Given the description of an element on the screen output the (x, y) to click on. 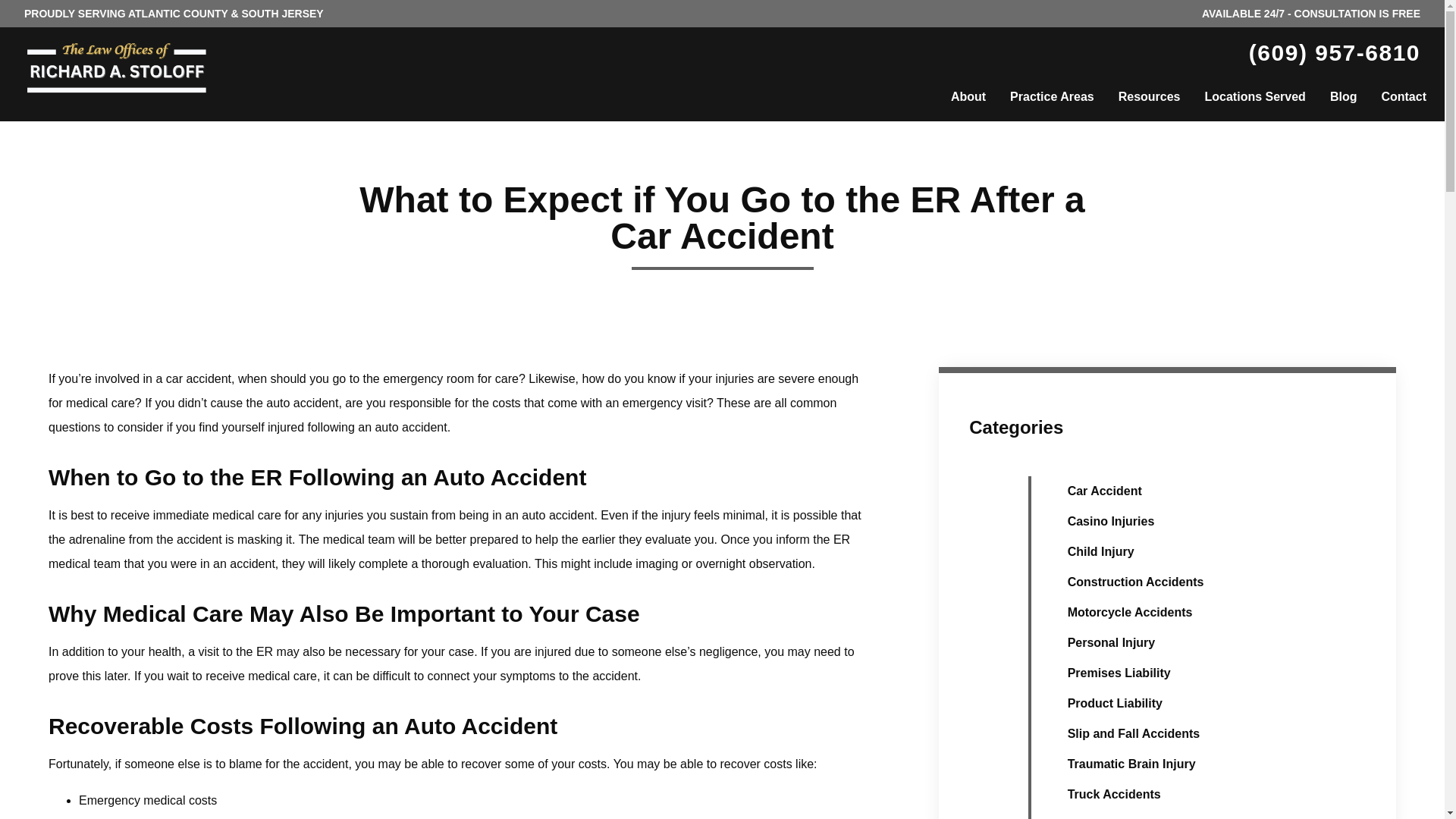
About (968, 96)
Contact (1403, 96)
Blog (1343, 96)
